Given the description of an element on the screen output the (x, y) to click on. 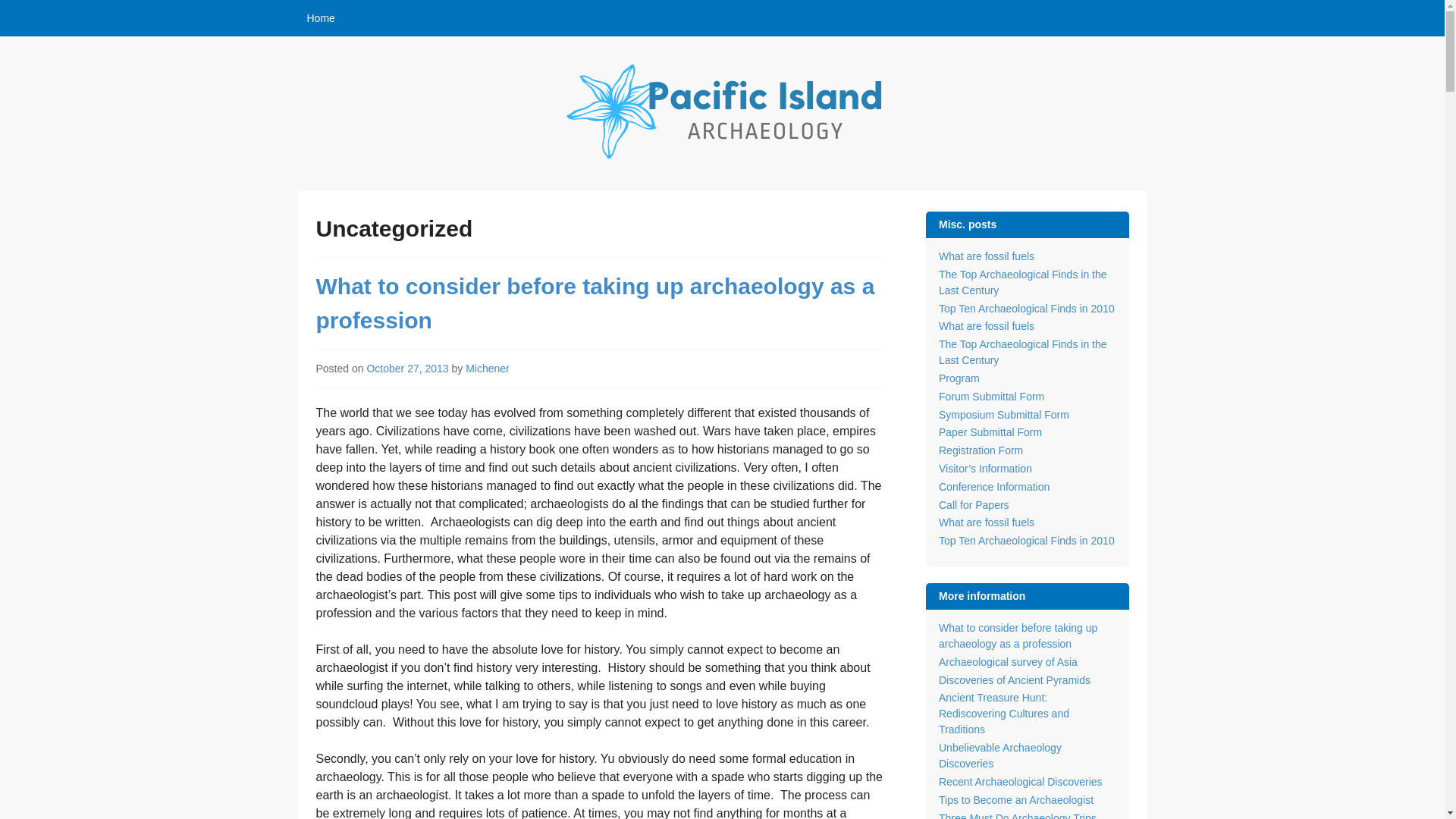
Symposium Submittal Form (1003, 414)
What are fossil fuels (986, 256)
Forum Submittal Form (991, 396)
The Top Archaeological Finds in the Last Century (1022, 352)
What are fossil fuels (986, 326)
Top Ten Archaeological Finds in 2010 (1027, 308)
Paper Submittal Form (990, 431)
Home (320, 18)
Michener (487, 368)
